Given the description of an element on the screen output the (x, y) to click on. 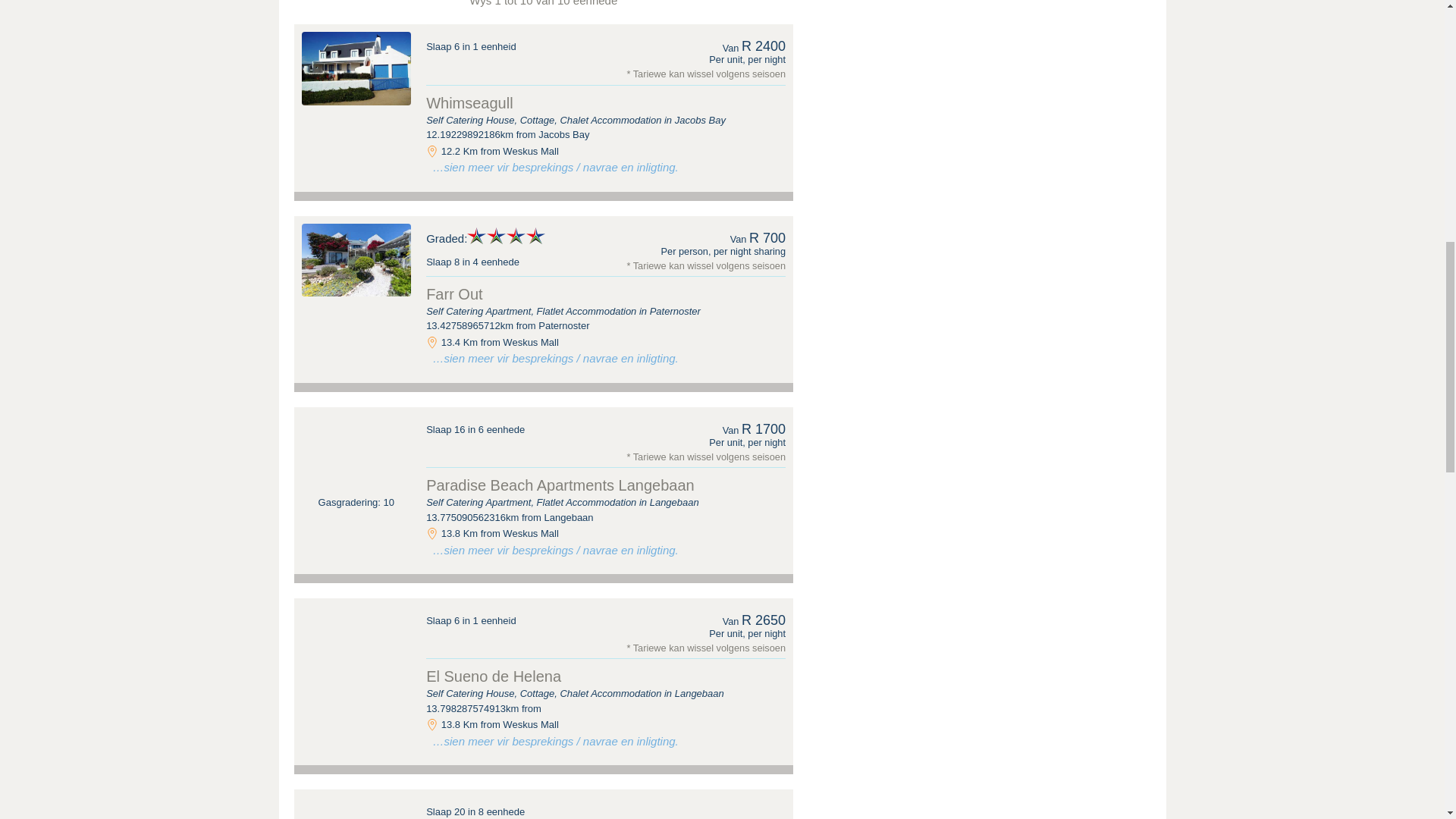
LekkeBly Boutique Loft (356, 807)
Farr Out (356, 259)
El Sueno de Helena (356, 642)
Whimseagull (356, 67)
Paradise Beach Apartments Langebaan (356, 450)
Slaap 6 in 1 eenheid (471, 46)
Whimseagull (469, 103)
